Given the description of an element on the screen output the (x, y) to click on. 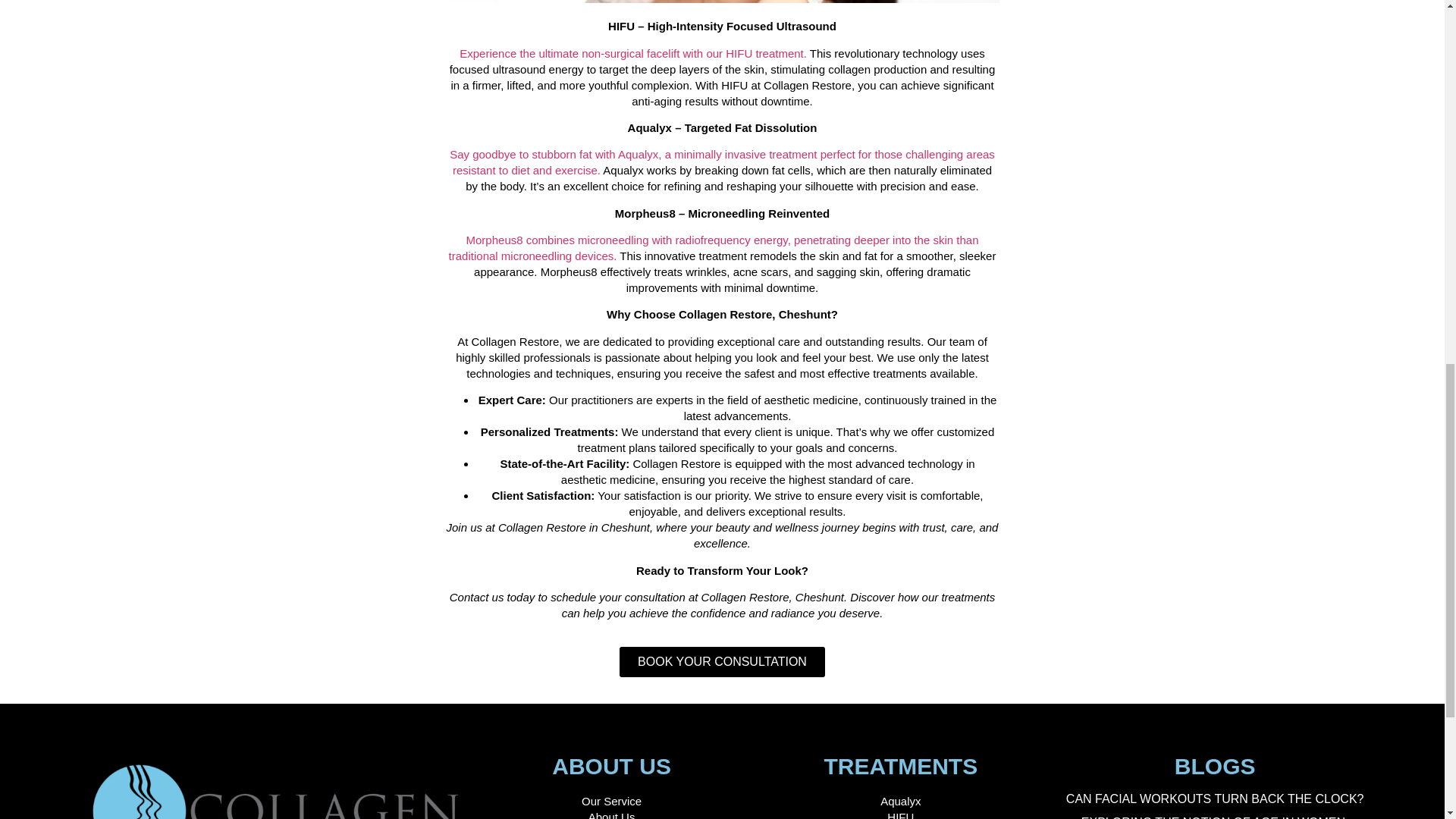
BOOK YOUR CONSULTATION (722, 662)
